Given the description of an element on the screen output the (x, y) to click on. 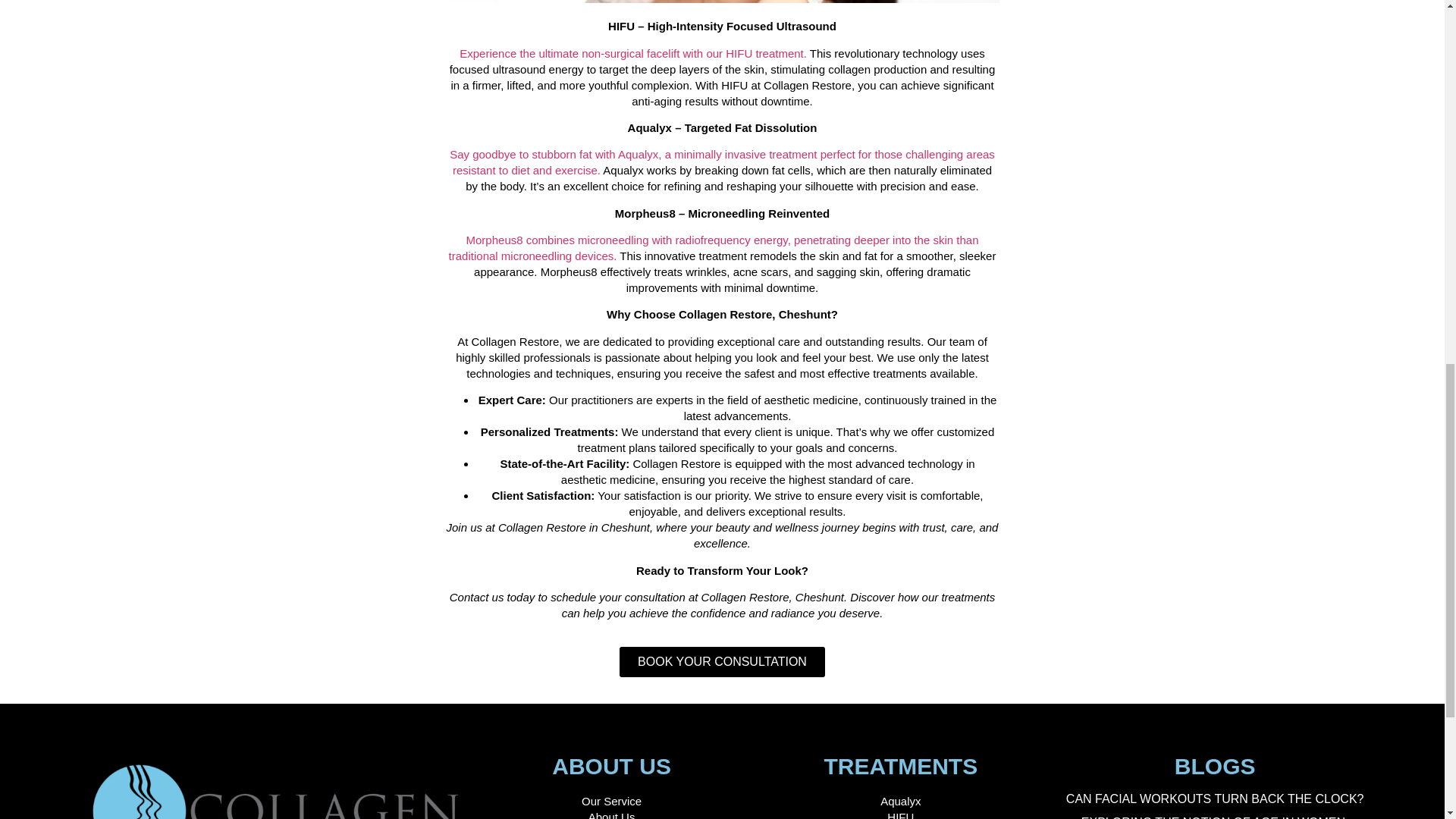
BOOK YOUR CONSULTATION (722, 662)
